Given the description of an element on the screen output the (x, y) to click on. 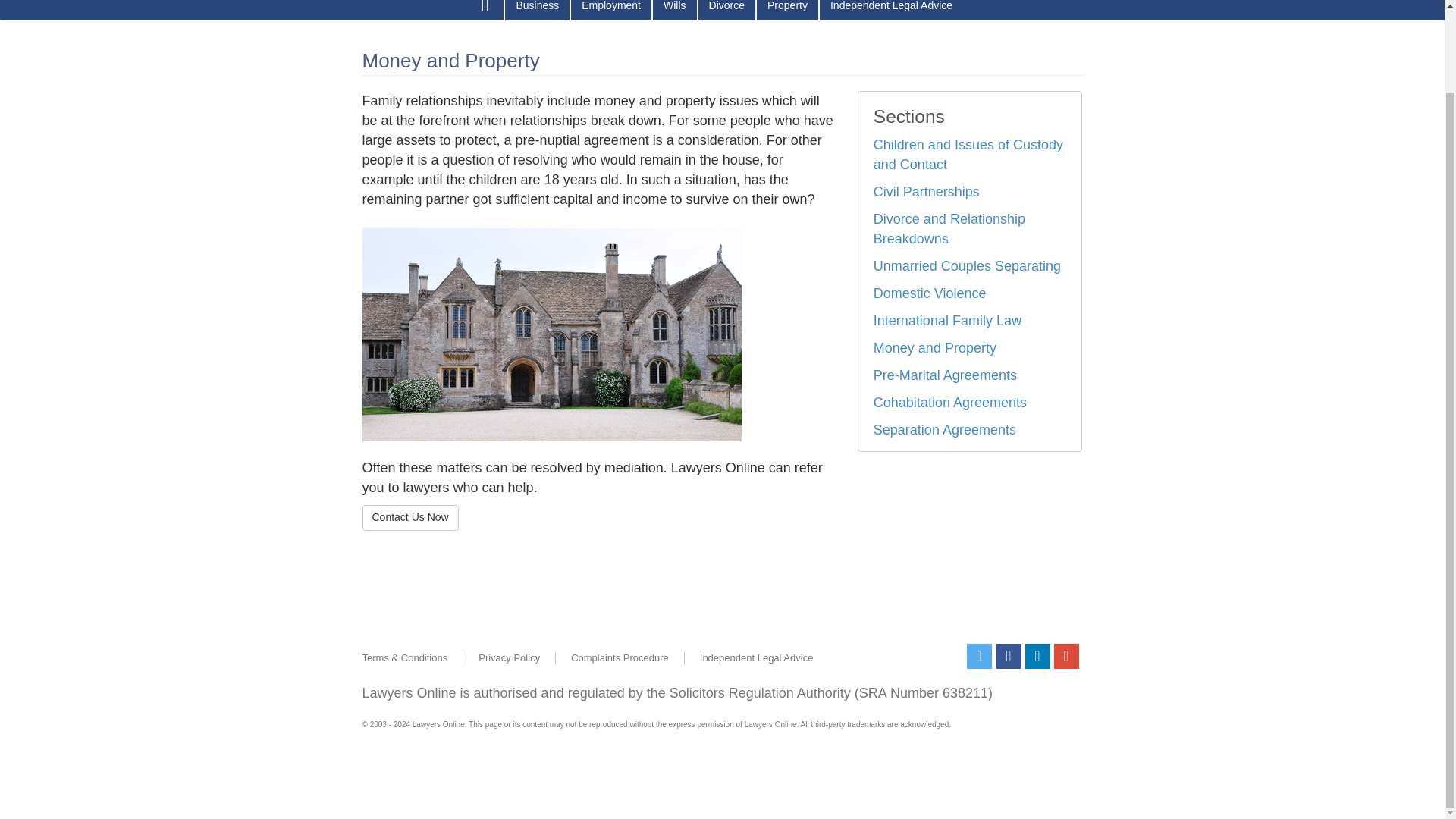
Business (537, 10)
Employment (610, 10)
Wills (674, 10)
Divorce (726, 10)
